Given the description of an element on the screen output the (x, y) to click on. 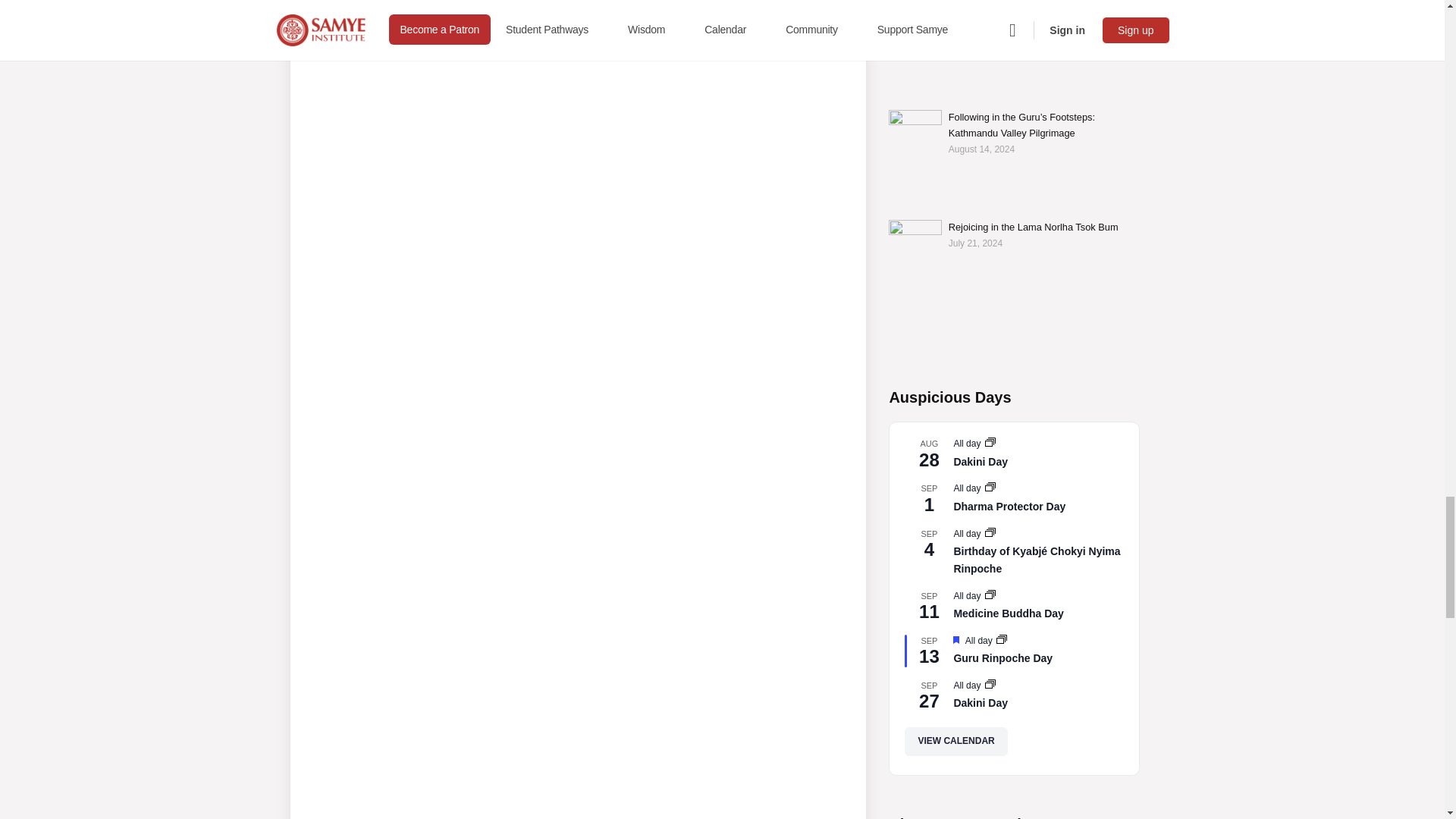
Event Series (990, 593)
Event Series (990, 486)
Event Series (990, 443)
Dakini Day (980, 461)
Event Series (990, 441)
Event Series (990, 532)
